Given the description of an element on the screen output the (x, y) to click on. 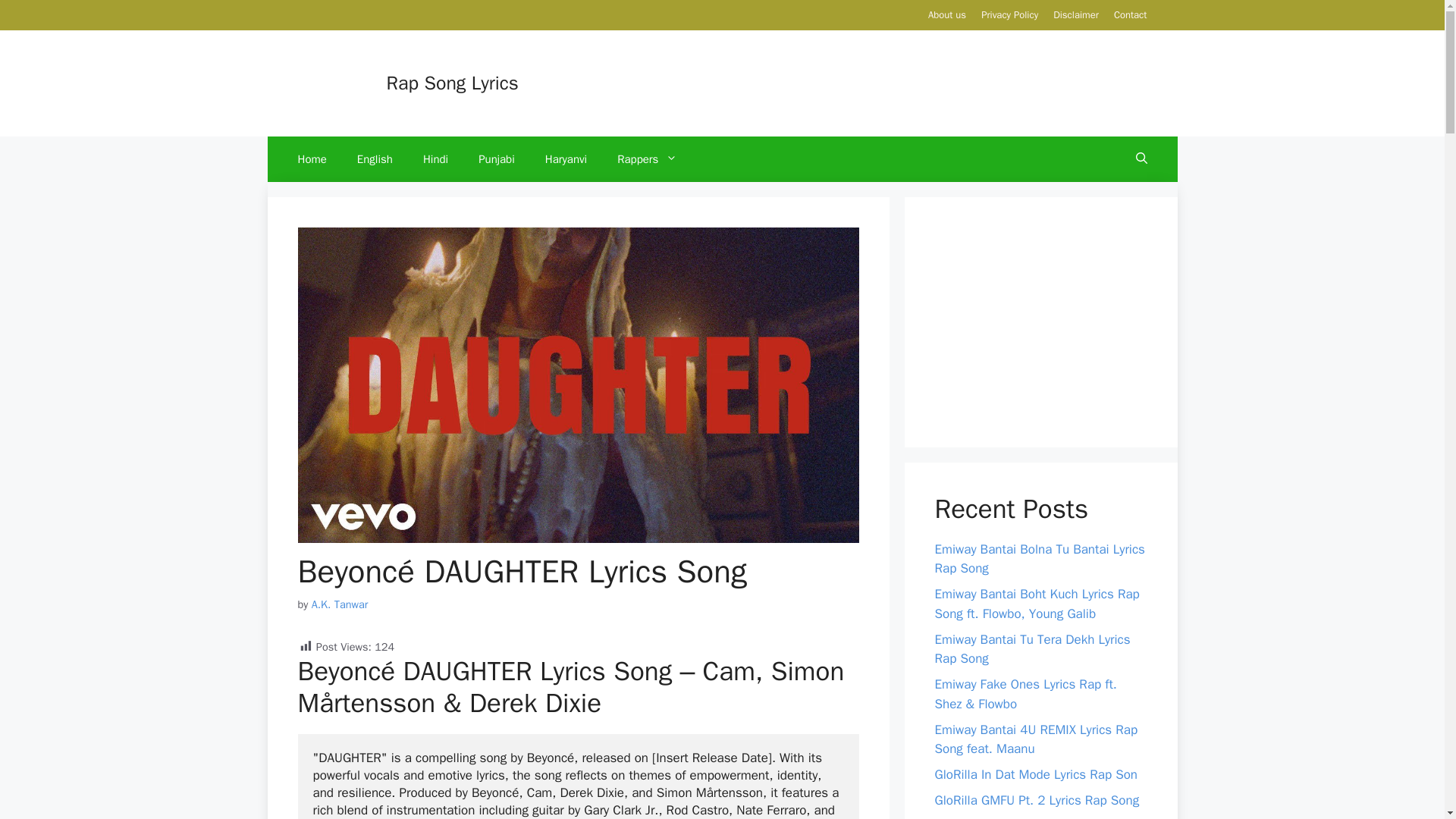
View all posts by A.K. Tanwar (339, 603)
English (374, 158)
Disclaimer (1075, 14)
Home (311, 158)
Haryanvi (565, 158)
About us (947, 14)
Contact (1130, 14)
Hindi (435, 158)
Privacy Policy (1009, 14)
Punjabi (496, 158)
Rap Song Lyrics (452, 83)
Rappers (654, 158)
